Given the description of an element on the screen output the (x, y) to click on. 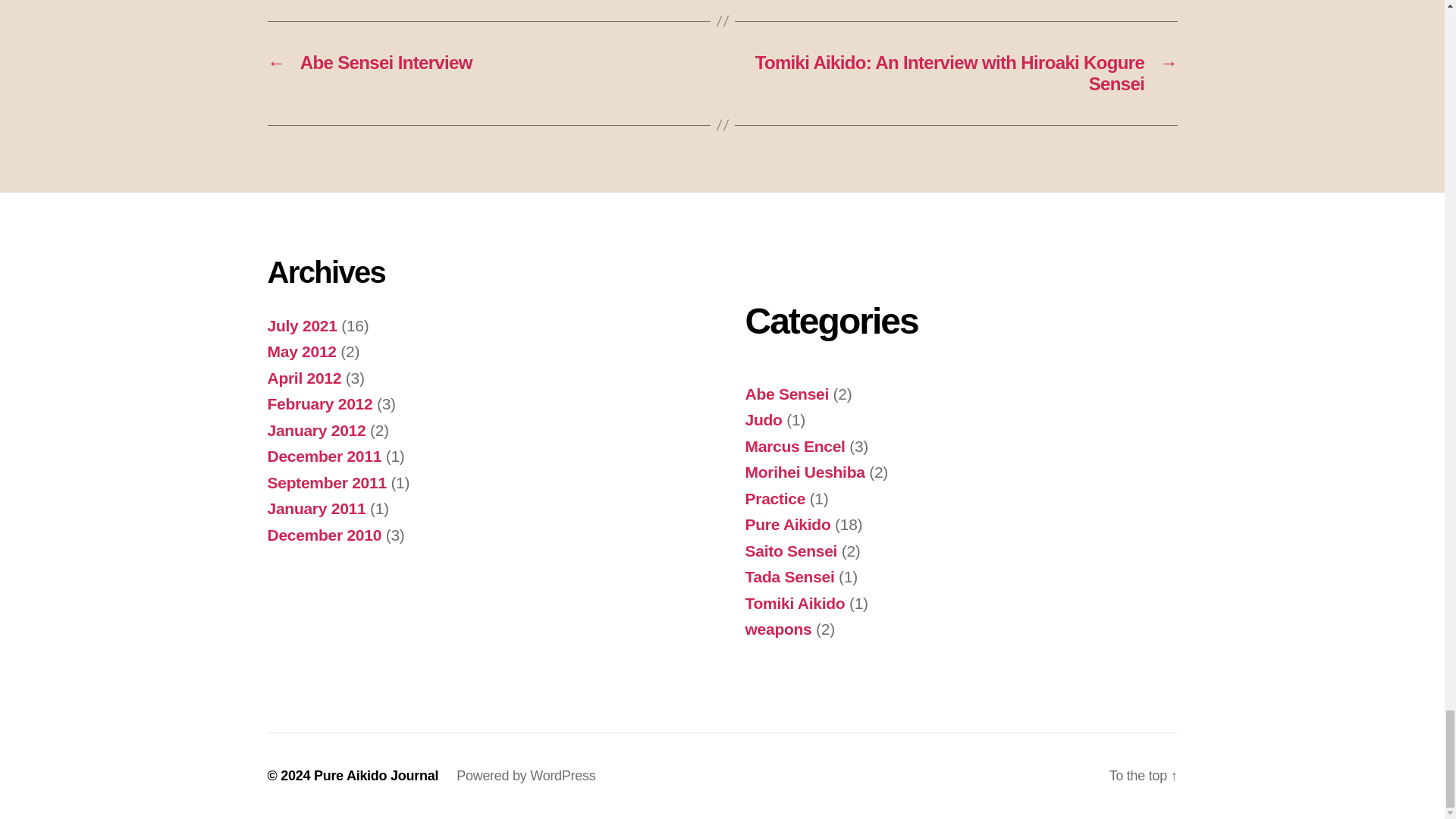
Pure Aikido Journal (376, 775)
Practice (774, 497)
Tomiki Aikido (794, 602)
April 2012 (303, 377)
Tada Sensei (789, 576)
July 2021 (301, 325)
Abe Sensei (786, 393)
May 2012 (301, 351)
December 2011 (323, 456)
Powered by WordPress (526, 775)
September 2011 (325, 482)
Judo (762, 419)
Pure Aikido (786, 524)
January 2011 (315, 507)
Morihei Ueshiba (804, 471)
